Given the description of an element on the screen output the (x, y) to click on. 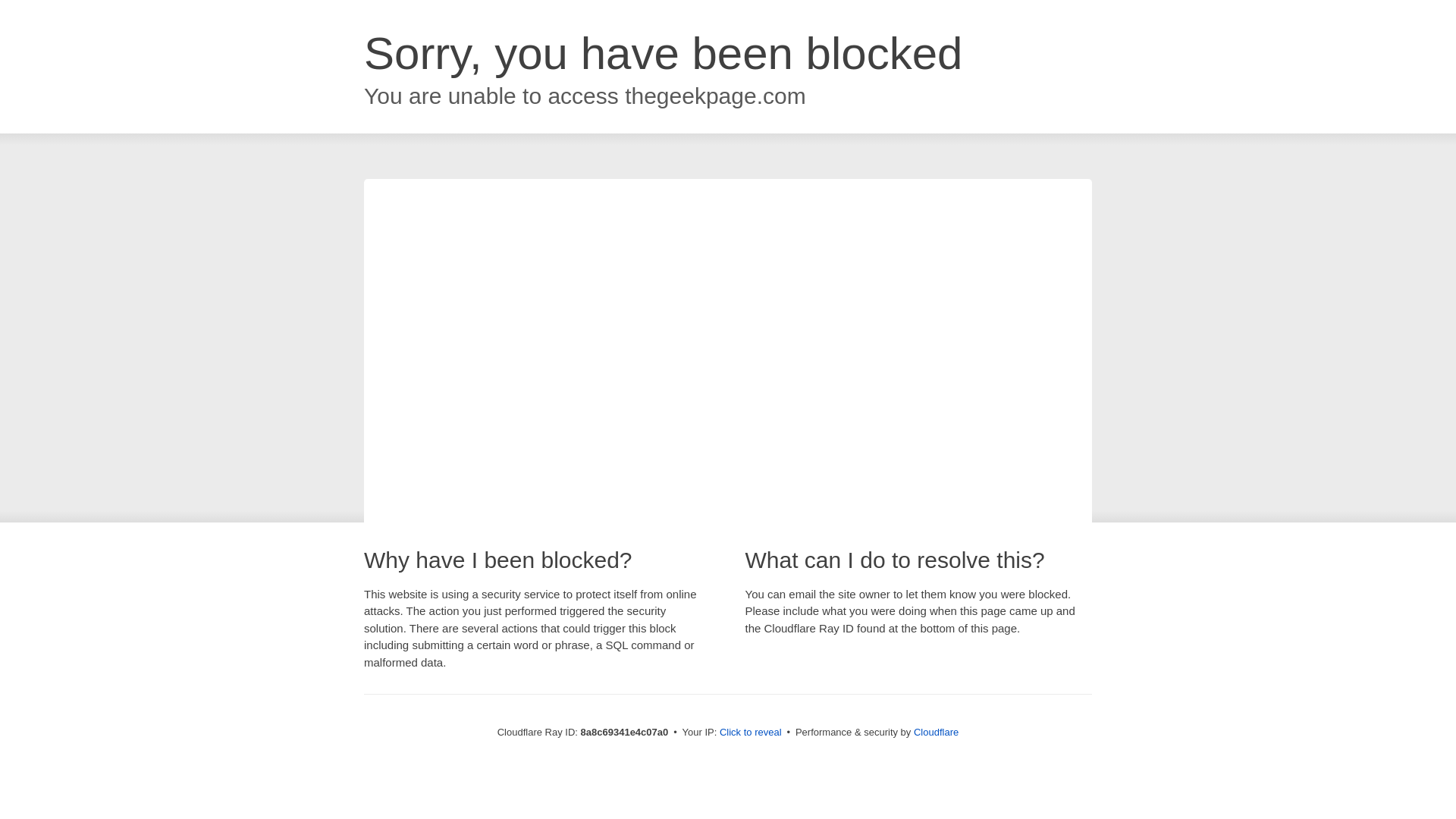
Cloudflare (936, 731)
Click to reveal (750, 732)
